Given the description of an element on the screen output the (x, y) to click on. 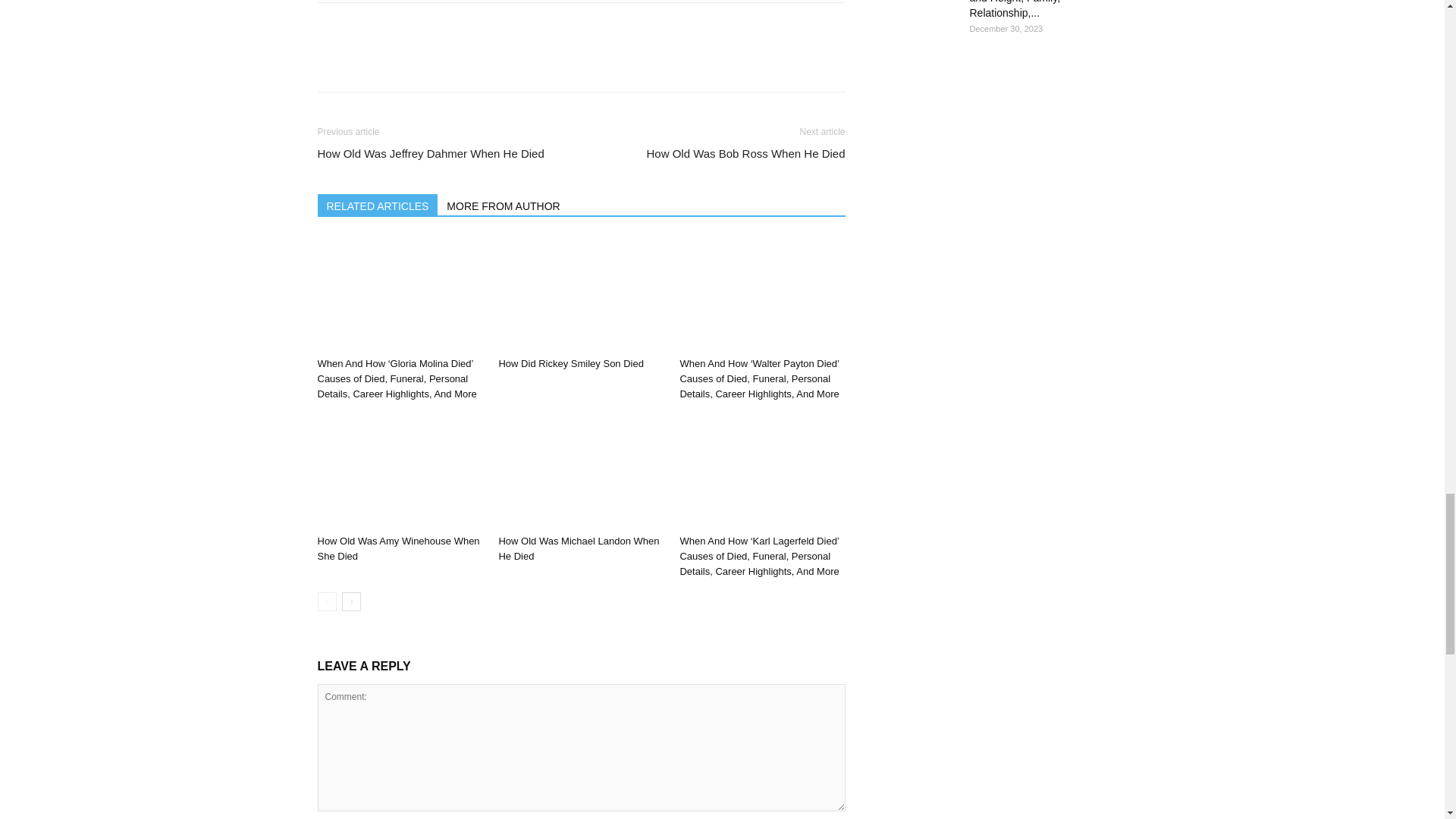
How Did Rickey Smiley Son Died (580, 294)
How Old Was Amy Winehouse When She Died (399, 471)
How Old Was Amy Winehouse When She Died (398, 548)
How Old Was Michael Landon When He Died (580, 471)
How Did Rickey Smiley Son Died (570, 363)
